Given the description of an element on the screen output the (x, y) to click on. 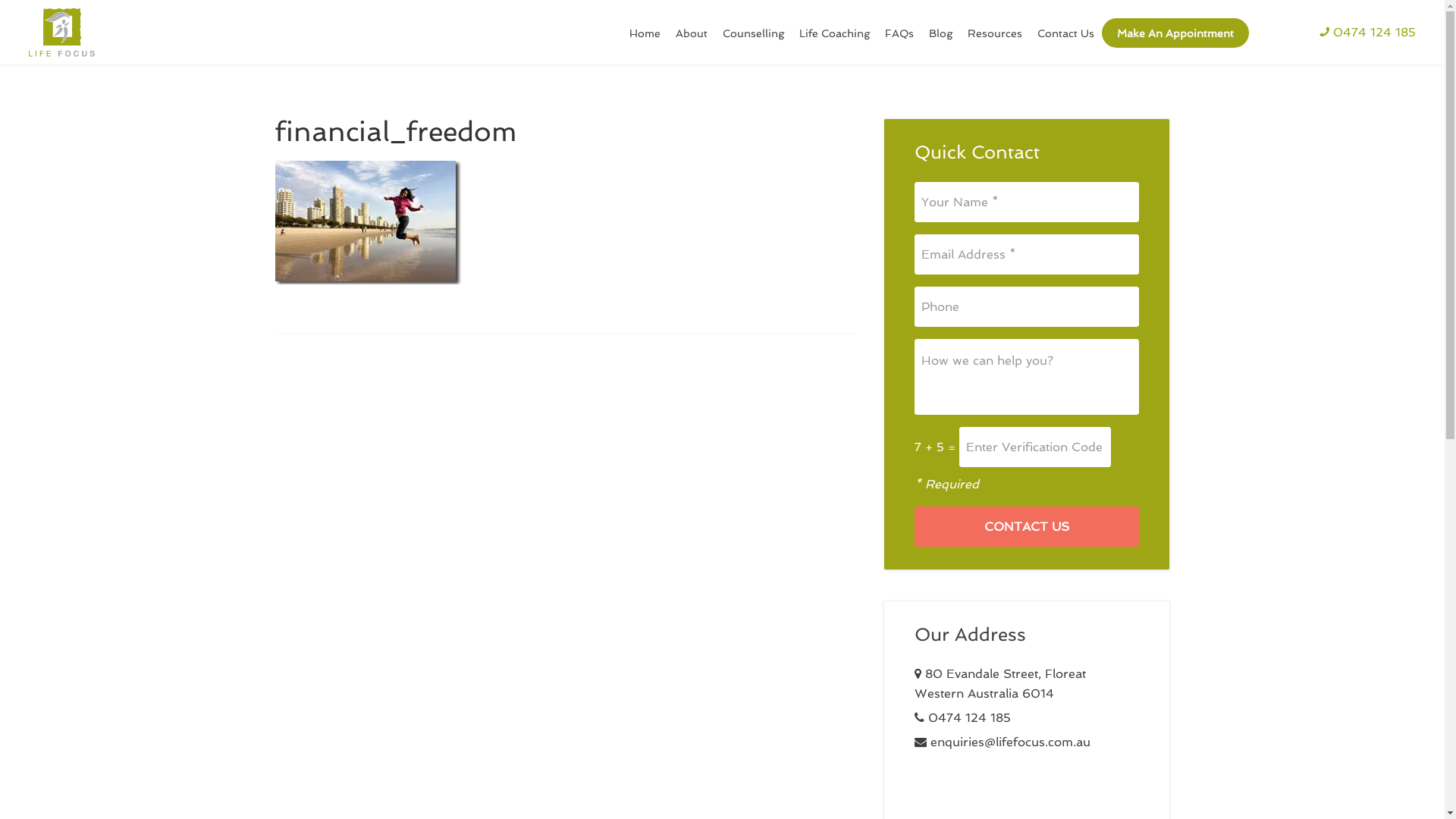
0474 124 185 Element type: text (1367, 32)
Resources Element type: text (994, 32)
Make An Appointment Element type: text (1174, 32)
About Element type: text (691, 32)
Contact Us Element type: text (1065, 32)
Blog Element type: text (940, 32)
Contact Us Element type: text (1026, 526)
Home Element type: text (644, 32)
PERTH COUNSELLING & RELATIONSHIP THERAPY Element type: text (61, 31)
0474 124 185 Element type: text (969, 717)
enquiries@lifefocus.com.au Element type: text (1010, 741)
FAQs Element type: text (899, 32)
Life Coaching Element type: text (834, 32)
Counselling Element type: text (753, 32)
